Given the description of an element on the screen output the (x, y) to click on. 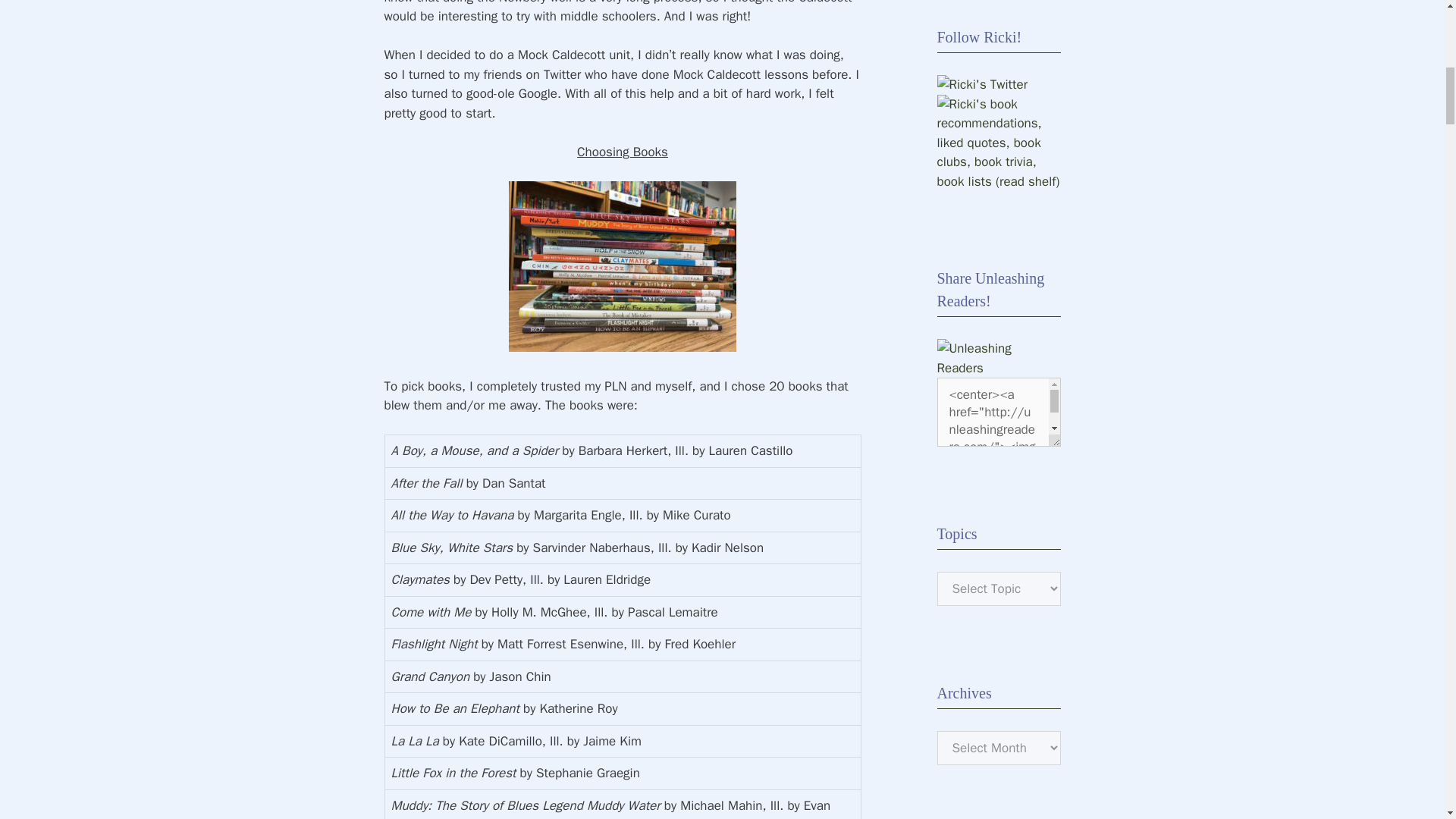
Ricki's Twitter (982, 84)
